Given the description of an element on the screen output the (x, y) to click on. 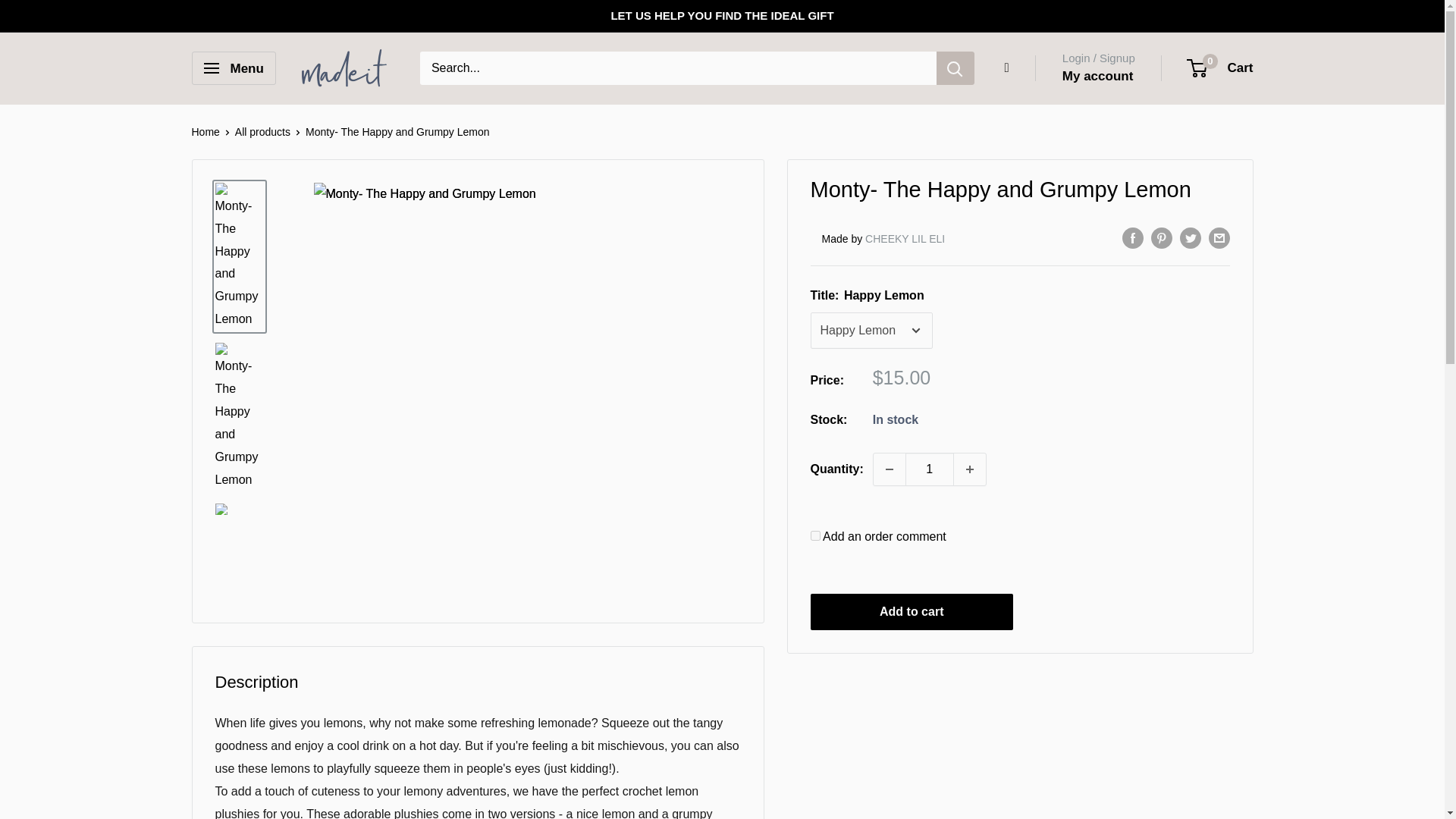
LET US HELP YOU FIND THE IDEAL GIFT (721, 15)
1 (929, 469)
on (814, 535)
Increase quantity by 1 (969, 469)
Decrease quantity by 1 (889, 469)
